Given the description of an element on the screen output the (x, y) to click on. 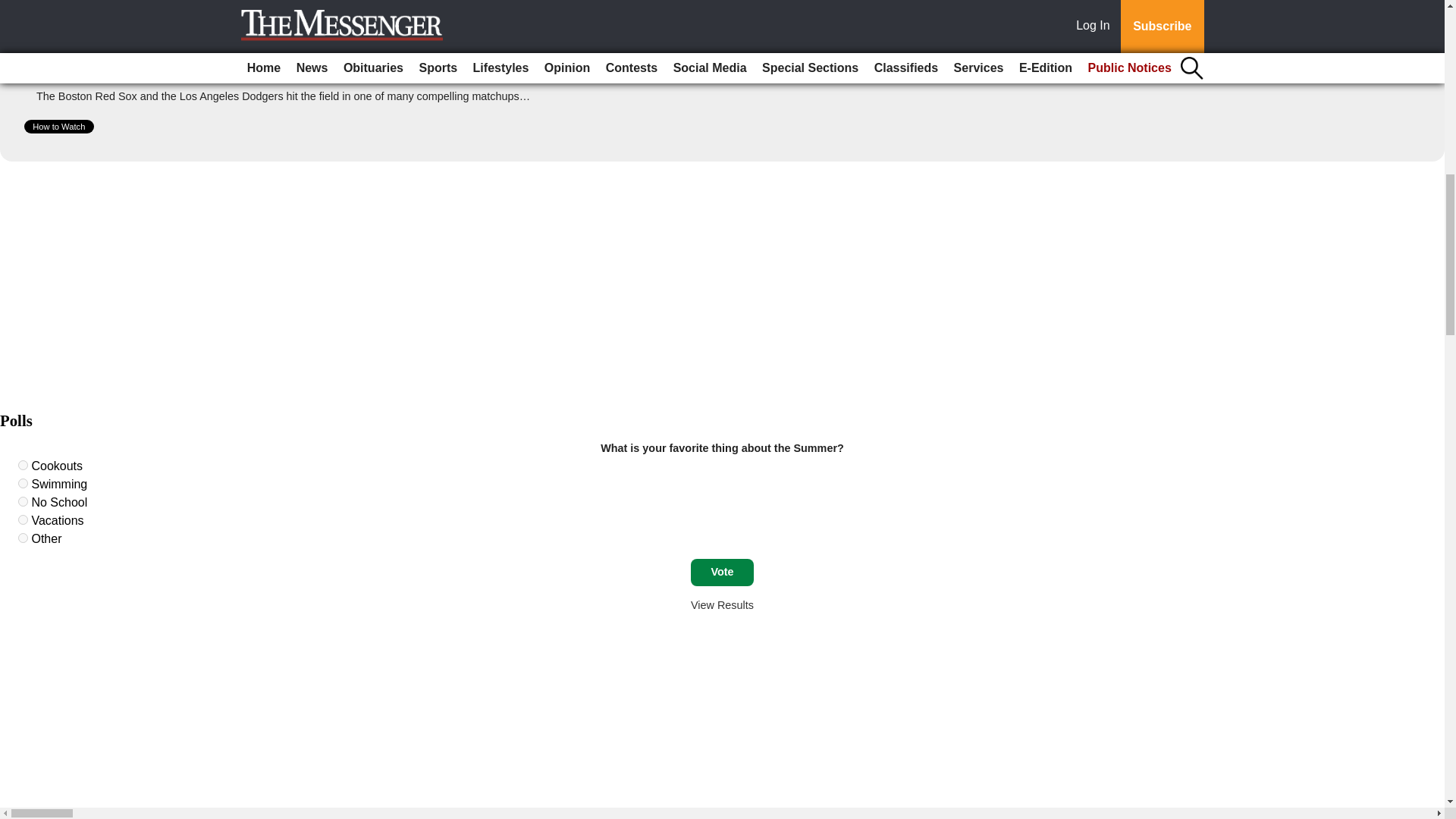
7275 (22, 483)
3rd party ad content (721, 280)
   Vote    (722, 572)
7274 (22, 465)
7277 (22, 519)
View Results Of This Poll (722, 604)
7278 (22, 537)
7276 (22, 501)
